Given the description of an element on the screen output the (x, y) to click on. 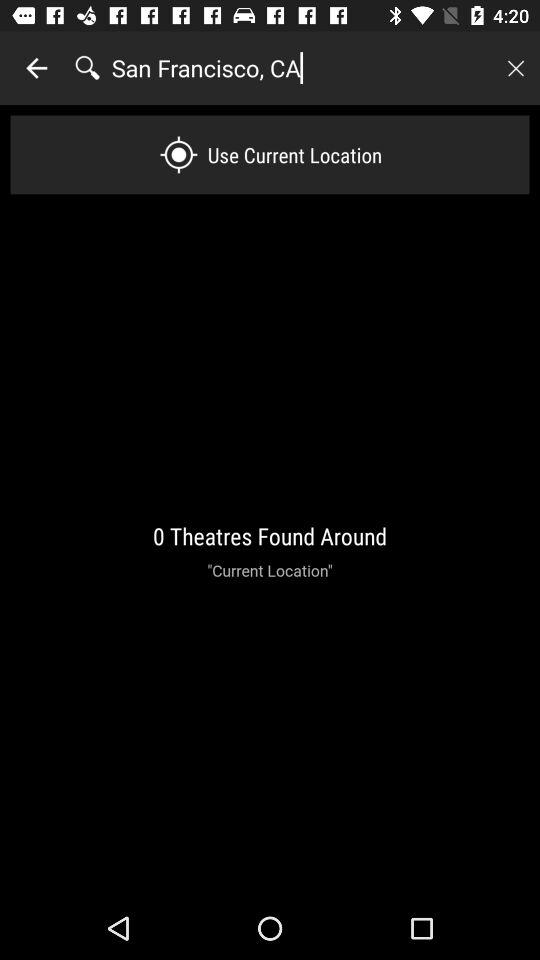
open the icon at the top left corner (36, 68)
